Given the description of an element on the screen output the (x, y) to click on. 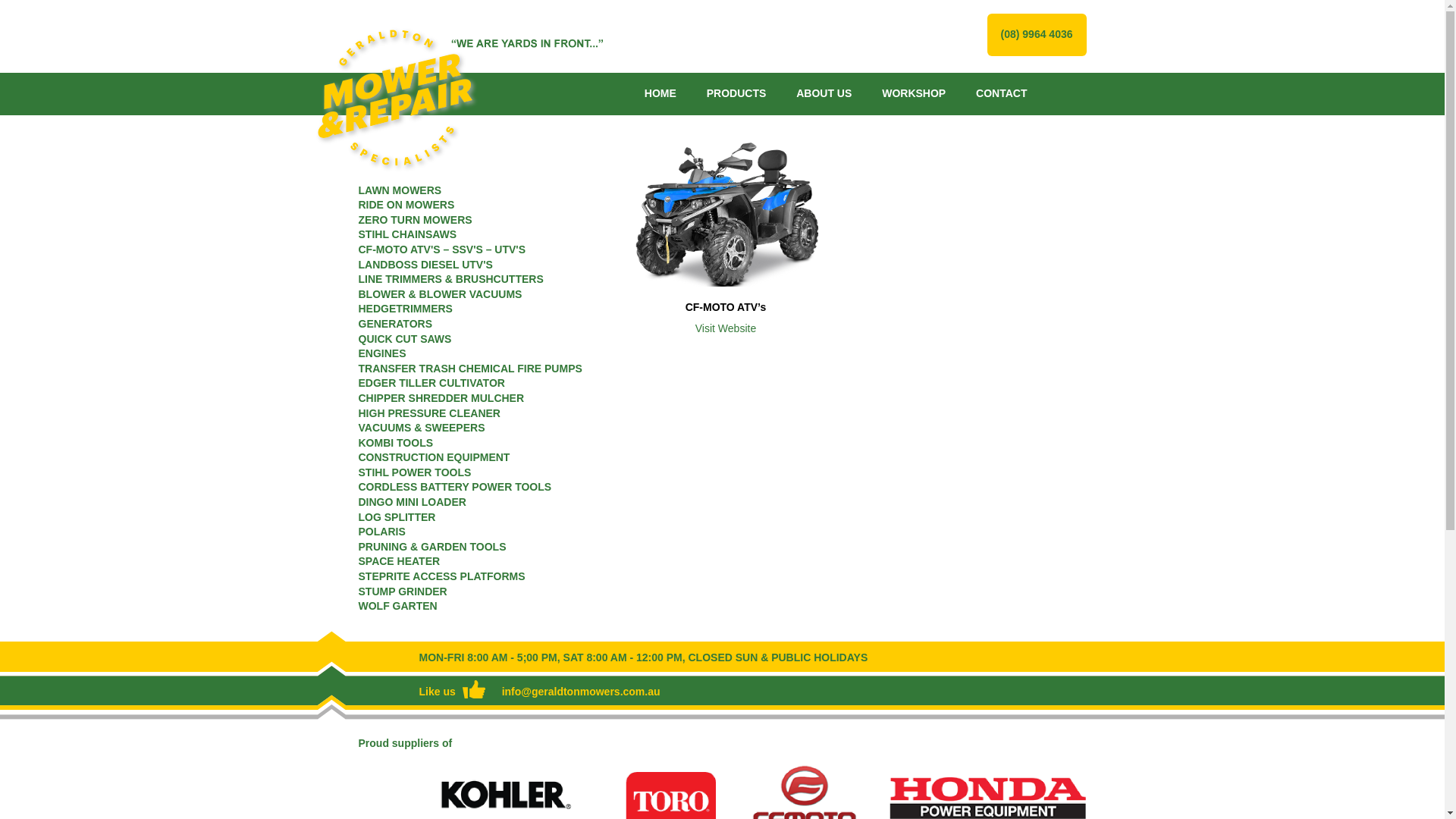
ABOUT US Element type: text (823, 93)
GENERATORS Element type: text (394, 323)
QUICK CUT SAWS Element type: text (404, 338)
info@geraldtonmowers.com.au Element type: text (581, 691)
DINGO MINI LOADER Element type: text (411, 501)
RIDE ON MOWERS Element type: text (405, 204)
VACUUMS & SWEEPERS Element type: text (420, 427)
ENGINES Element type: text (381, 353)
CHIPPER SHREDDER MULCHER Element type: text (440, 398)
WORKSHOP Element type: text (913, 93)
STIHL CHAINSAWS Element type: text (406, 234)
Like us Element type: text (451, 691)
TRANSFER TRASH CHEMICAL FIRE PUMPS Element type: text (469, 368)
EDGER TILLER CULTIVATOR Element type: text (430, 382)
LINE TRIMMERS & BRUSHCUTTERS Element type: text (449, 279)
PRODUCTS Element type: text (736, 93)
KOMBI TOOLS Element type: text (395, 442)
Geraldton Mower & Repair Specialists Element type: text (453, 100)
SPACE HEATER Element type: text (398, 561)
HIGH PRESSURE CLEANER Element type: text (428, 412)
ZERO TURN MOWERS Element type: text (414, 219)
STIHL POWER TOOLS Element type: text (413, 472)
(08) 9964 4036 Element type: text (1037, 34)
WOLF GARTEN Element type: text (396, 605)
STEPRITE ACCESS PLATFORMS Element type: text (440, 576)
STUMP GRINDER Element type: text (401, 591)
CONSTRUCTION EQUIPMENT Element type: text (433, 457)
CONTACT Element type: text (1000, 93)
HEDGETRIMMERS Element type: text (404, 308)
POLARIS Element type: text (380, 531)
PRUNING & GARDEN TOOLS Element type: text (431, 546)
Visit Website Element type: text (725, 328)
LANDBOSS DIESEL UTV'S Element type: text (424, 264)
CORDLESS BATTERY POWER TOOLS Element type: text (454, 486)
BLOWER & BLOWER VACUUMS Element type: text (439, 294)
LAWN MOWERS Element type: text (399, 190)
LOG SPLITTER Element type: text (396, 517)
HOME Element type: text (660, 93)
